Given the description of an element on the screen output the (x, y) to click on. 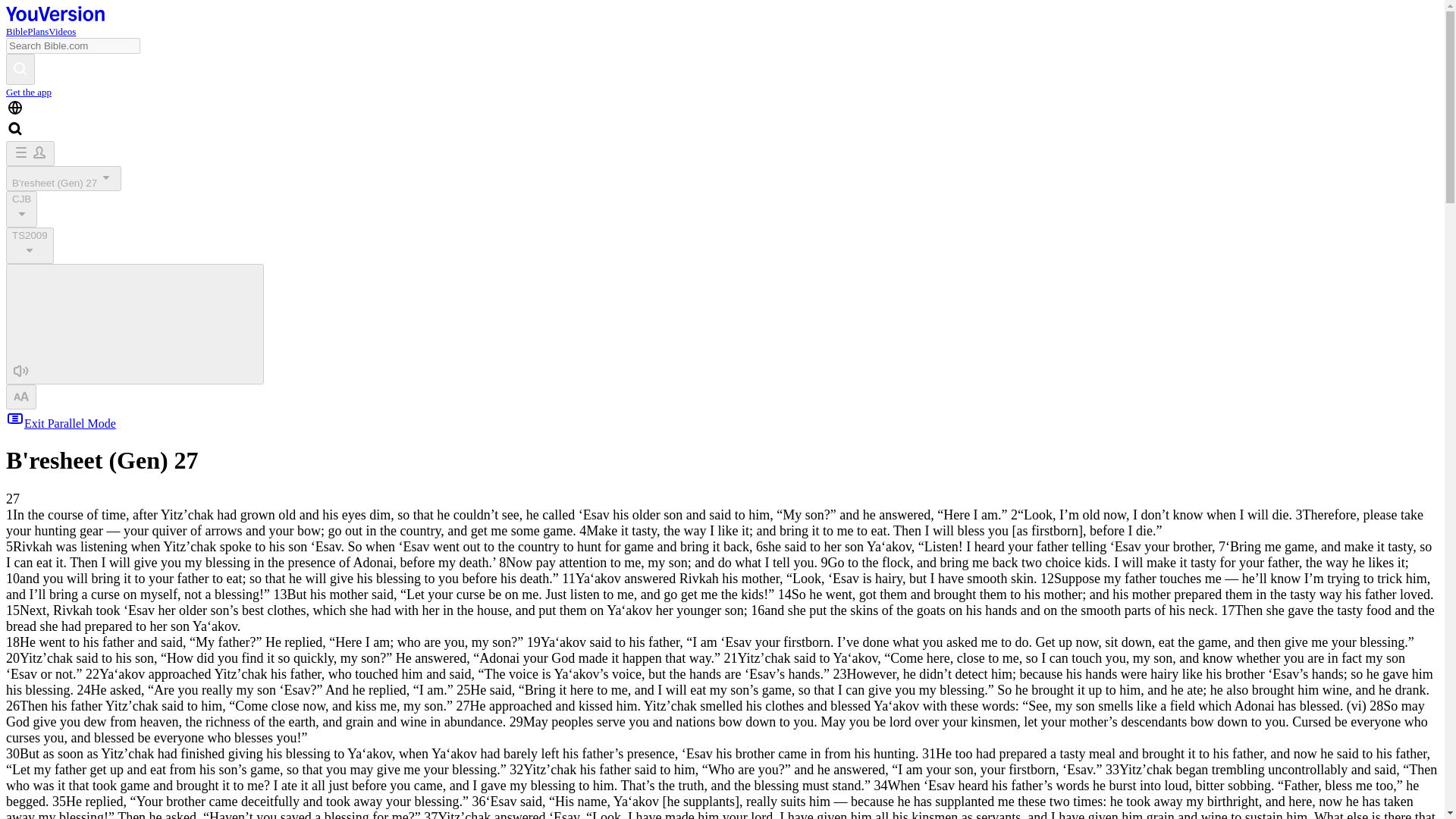
AUDIO (134, 323)
Bible (16, 30)
YouVersion Logo (54, 16)
TS2009 (29, 245)
Exit Parallel Mode (60, 422)
Search (19, 69)
Get the app (27, 91)
READER SETTINGS (20, 396)
Plans (37, 30)
Videos (61, 30)
